Given the description of an element on the screen output the (x, y) to click on. 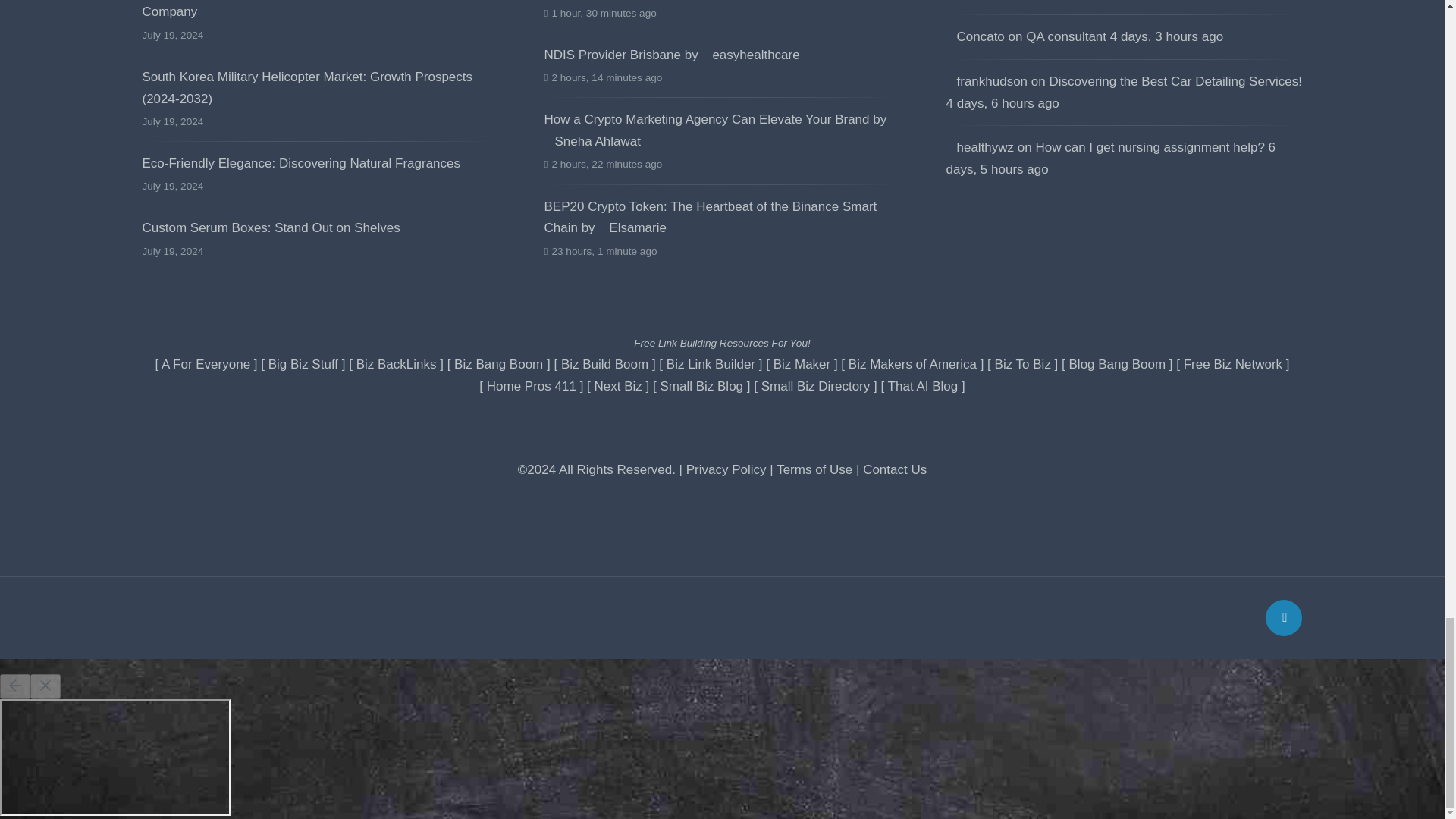
View Elsamarie's profile (632, 227)
View Concato's profile (975, 36)
View easyhealthcare's profile (750, 54)
View Sneha Ahlawat's profile (592, 141)
